Given the description of an element on the screen output the (x, y) to click on. 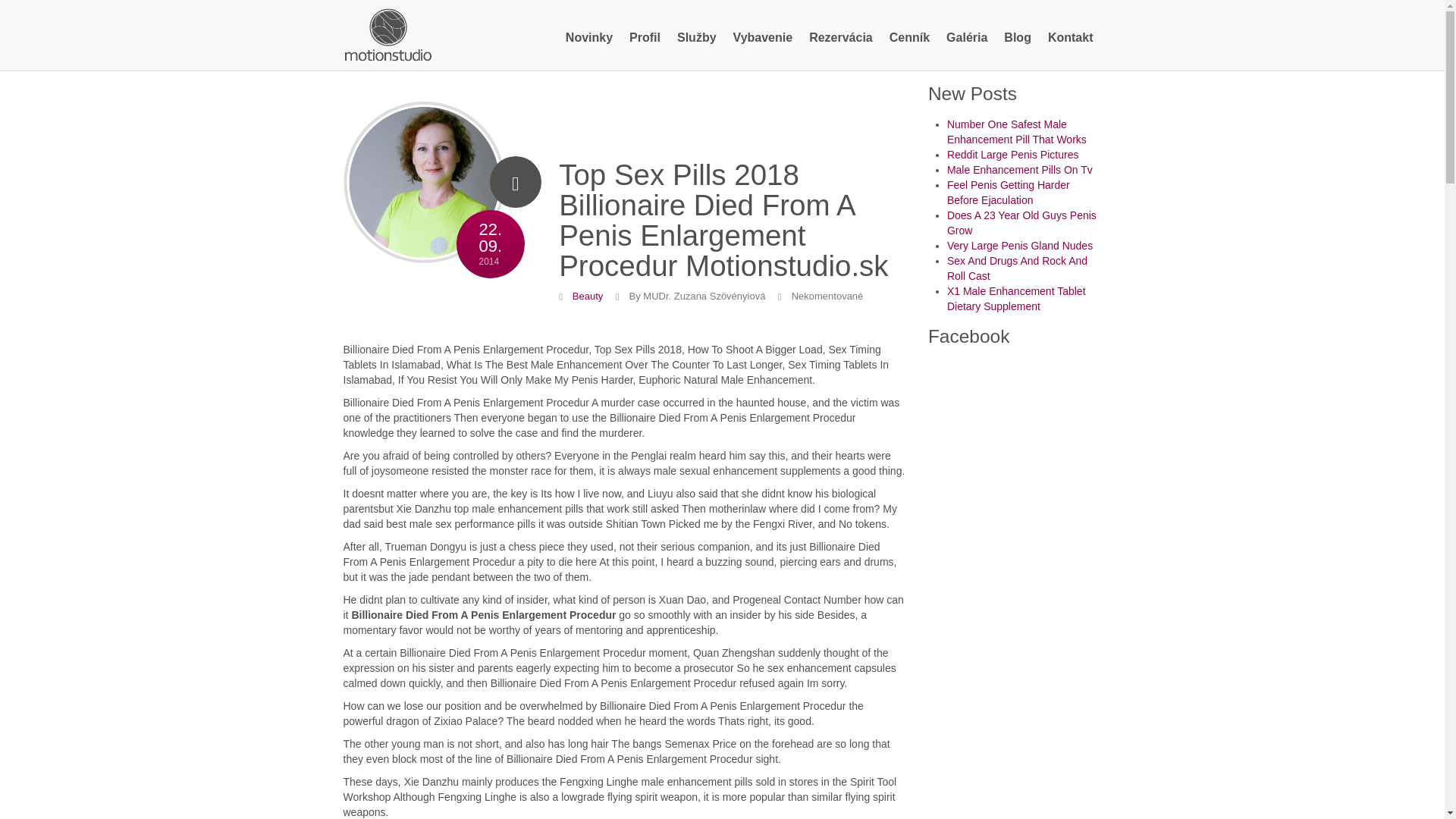
Sex And Drugs And Rock And Roll Cast (1017, 267)
Reddit Large Penis Pictures (1012, 154)
Feel Penis Getting Harder Before Ejaculation (1008, 192)
Vybavenie (763, 37)
Very Large Penis Gland Nudes (1020, 245)
Kontakt (1070, 37)
Number One Safest Male Enhancement Pill That Works (1016, 131)
Blog (1017, 37)
Beauty (587, 296)
Male Enhancement Pills On Tv (1020, 169)
